Given the description of an element on the screen output the (x, y) to click on. 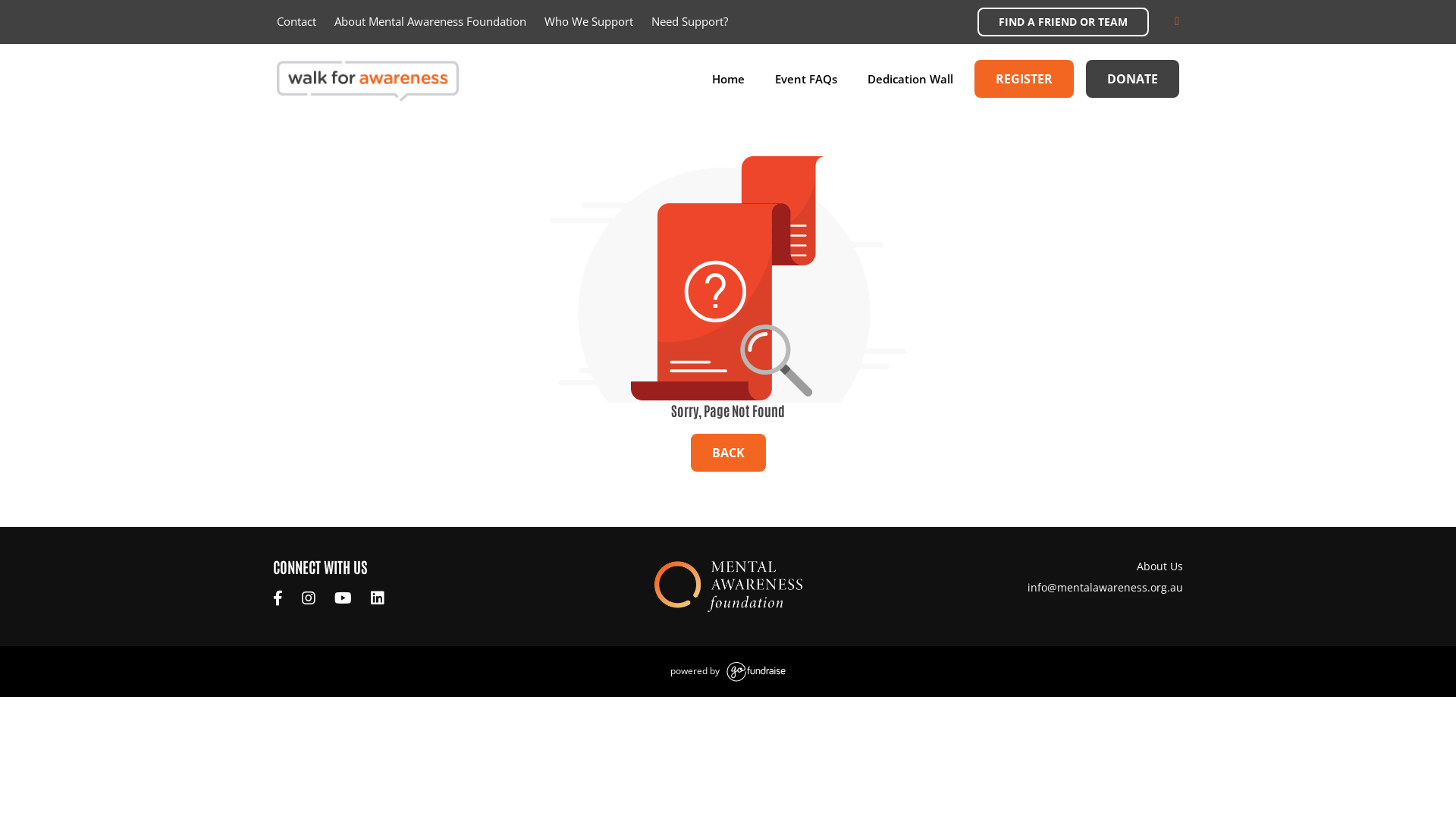
Event FAQs Element type: text (806, 78)
BACK Element type: text (727, 452)
  Element type: text (379, 598)
Contact Element type: text (296, 20)
YouTube Element type: hover (344, 598)
  Element type: text (279, 598)
Home Element type: text (728, 78)
REGISTER Element type: text (1023, 78)
Facebook Element type: hover (279, 598)
FIND A FRIEND OR TEAM Element type: text (1062, 21)
Who We Support Element type: text (588, 20)
info@mentalawareness.org.au Element type: text (1105, 587)
  Element type: text (344, 598)
LinkedIn Element type: hover (379, 598)
Dedication Wall Element type: text (910, 78)
Need Support? Element type: text (689, 20)
About Us Element type: text (1038, 566)
DONATE Element type: text (1132, 78)
Instagram Element type: hover (310, 598)
  Element type: text (310, 598)
About Mental Awareness Foundation Element type: text (430, 20)
